Given the description of an element on the screen output the (x, y) to click on. 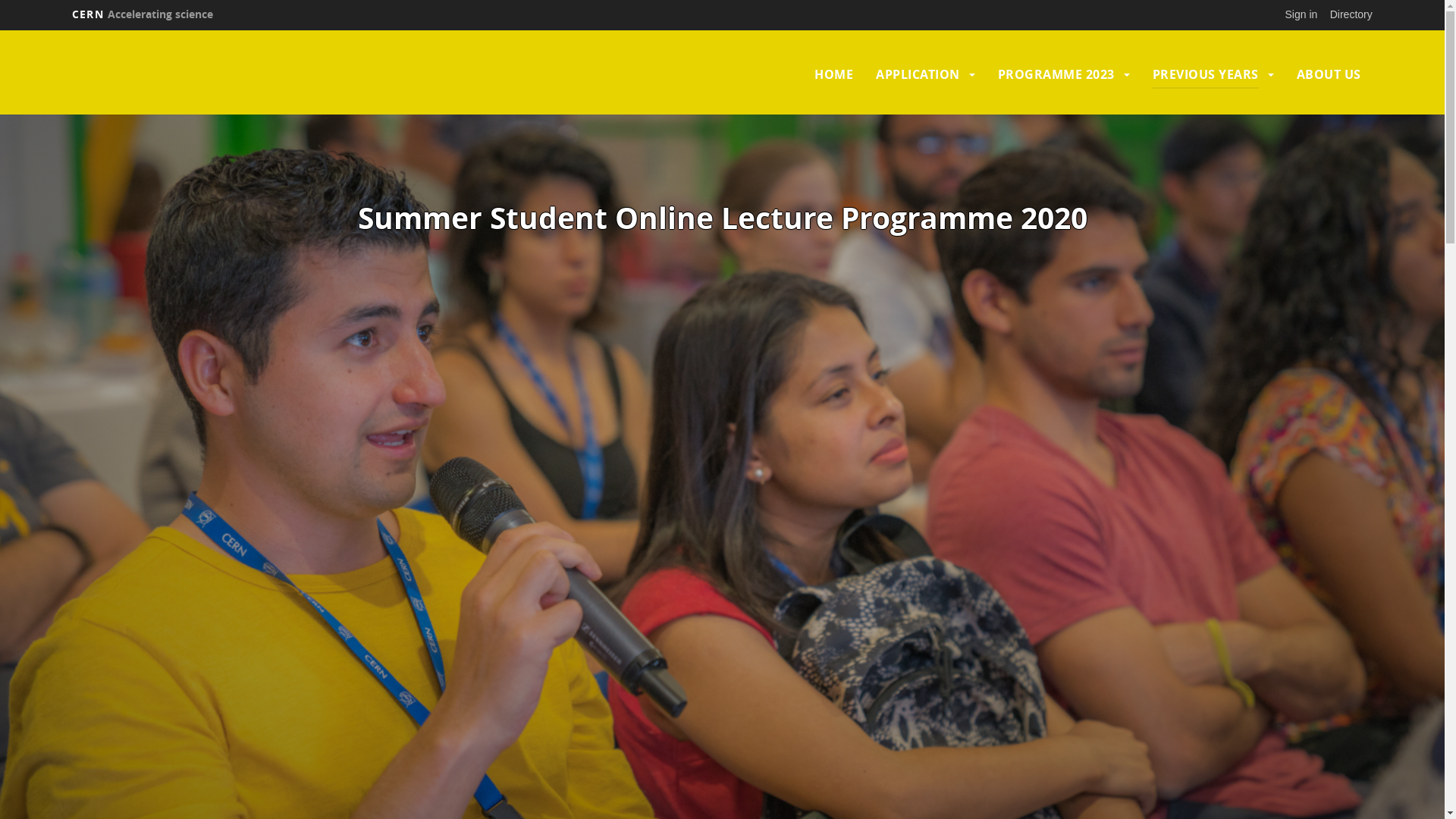
HOME Element type: text (833, 74)
ABOUT US Element type: text (1328, 74)
PROGRAMME 2023 Element type: text (1055, 74)
PREVIOUS YEARS Element type: text (1205, 74)
Skip to main content Element type: text (0, 30)
CERN Accelerating science Element type: text (142, 14)
APPLICATION Element type: text (917, 74)
Directory Element type: text (1351, 14)
Sign in Element type: text (1301, 14)
